Given the description of an element on the screen output the (x, y) to click on. 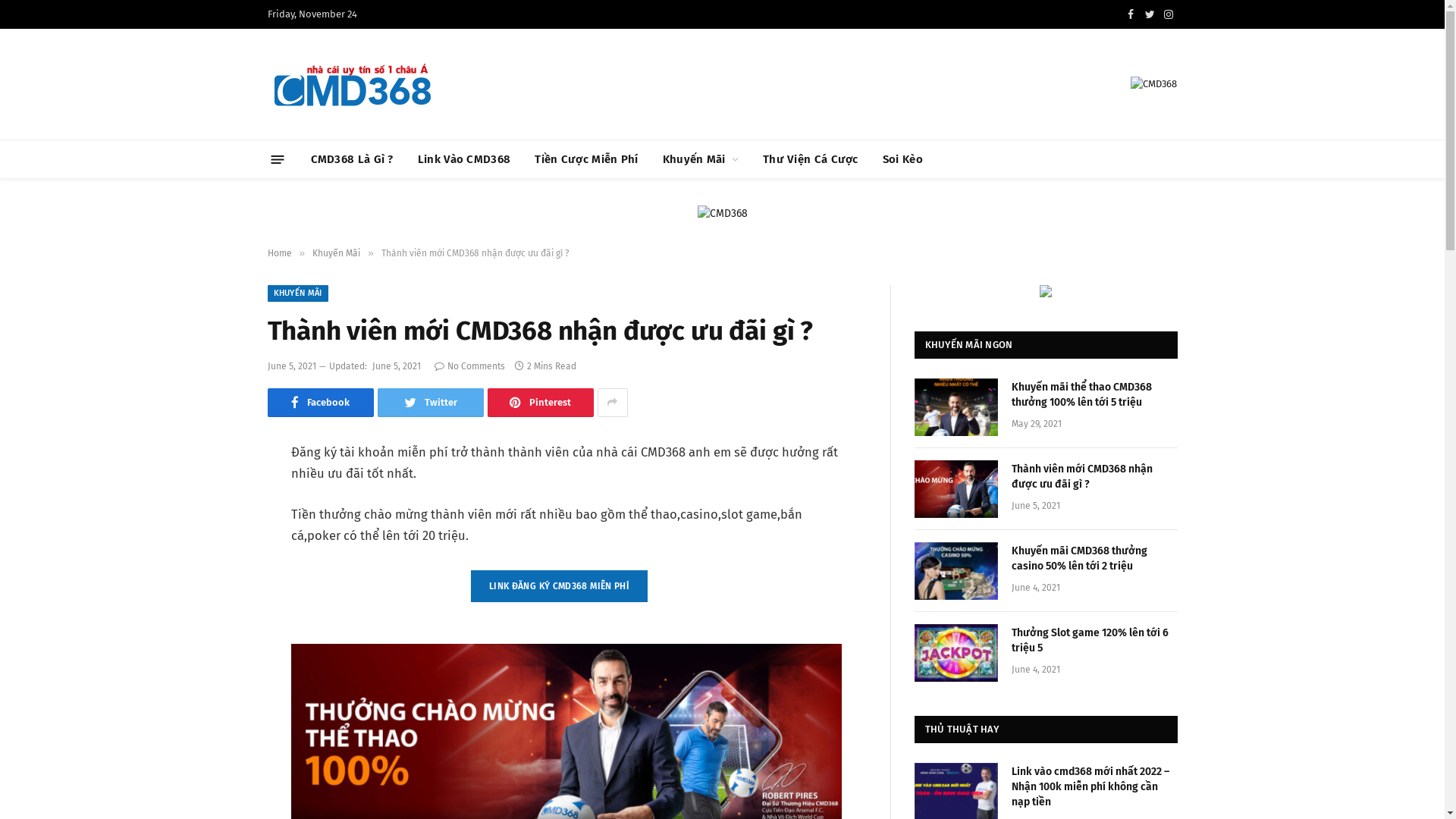
Search Element type: hover (1170, 159)
Facebook Element type: text (319, 402)
Home Element type: text (278, 252)
CMD368vin Element type: hover (351, 84)
No Comments Element type: text (468, 365)
Twitter Element type: text (1149, 14)
Show More Social Sharing Element type: hover (612, 402)
Facebook Element type: text (1130, 14)
Instagram Element type: text (1168, 14)
Pinterest Element type: text (539, 402)
Twitter Element type: text (430, 402)
